Given the description of an element on the screen output the (x, y) to click on. 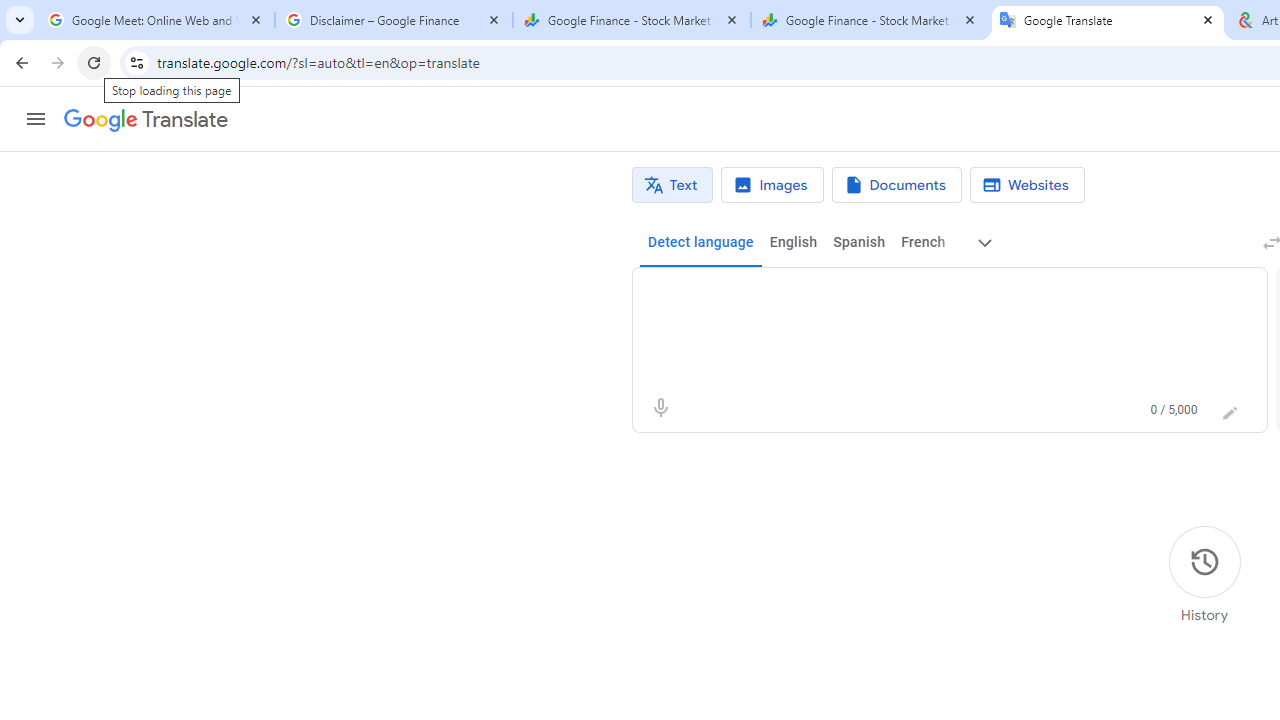
English (793, 242)
Source text (930, 295)
History (1204, 575)
Google Translate (1108, 20)
French (922, 242)
Spanish (858, 242)
